Given the description of an element on the screen output the (x, y) to click on. 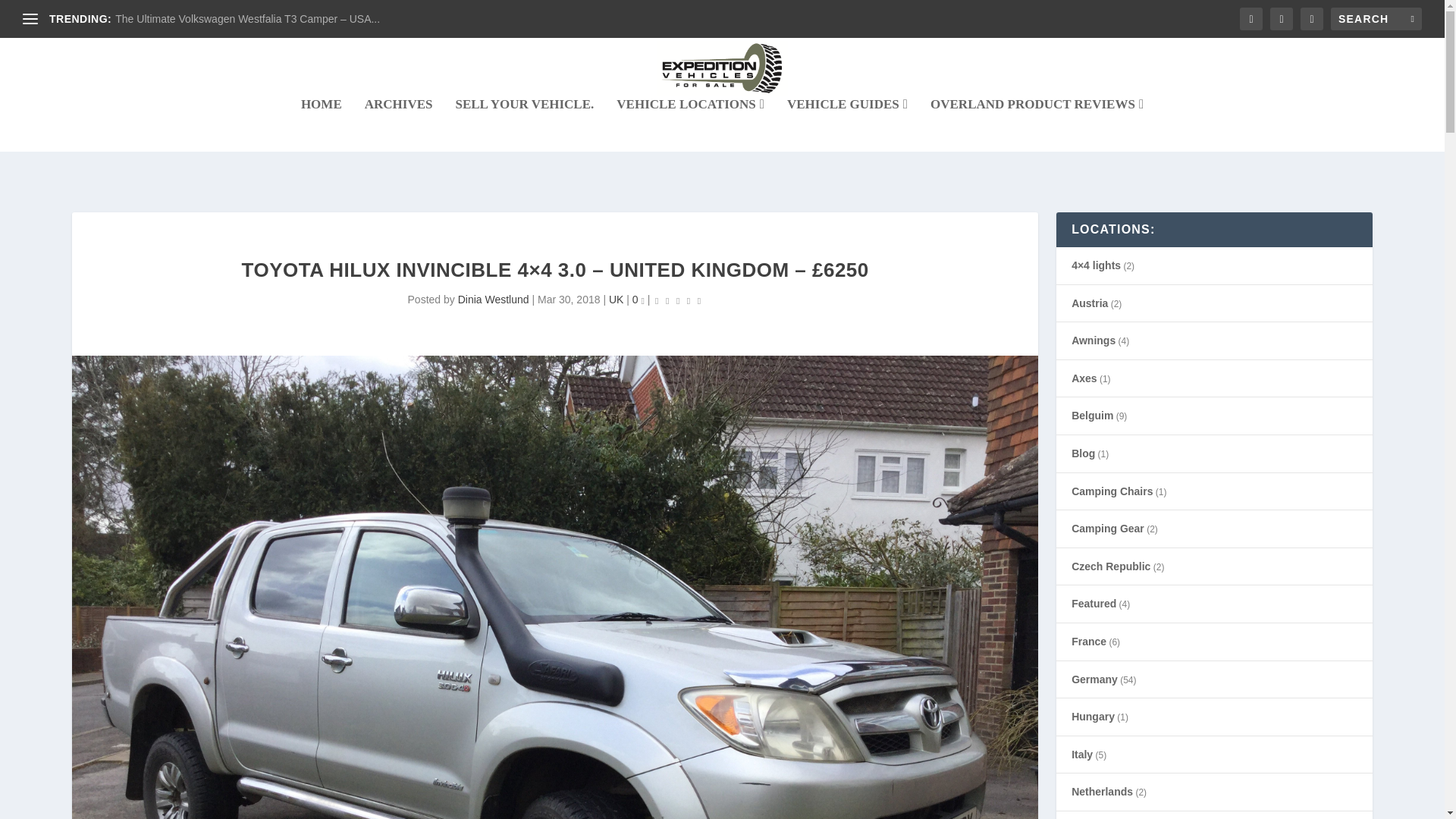
VEHICLE GUIDES (847, 124)
ARCHIVES (398, 124)
Search for: (1376, 18)
VEHICLE LOCATIONS (689, 124)
Posts by Dinia Westlund (493, 299)
Rating: 0.00 (677, 300)
SELL YOUR VEHICLE. (524, 124)
OVERLAND PRODUCT REVIEWS (1036, 124)
